Given the description of an element on the screen output the (x, y) to click on. 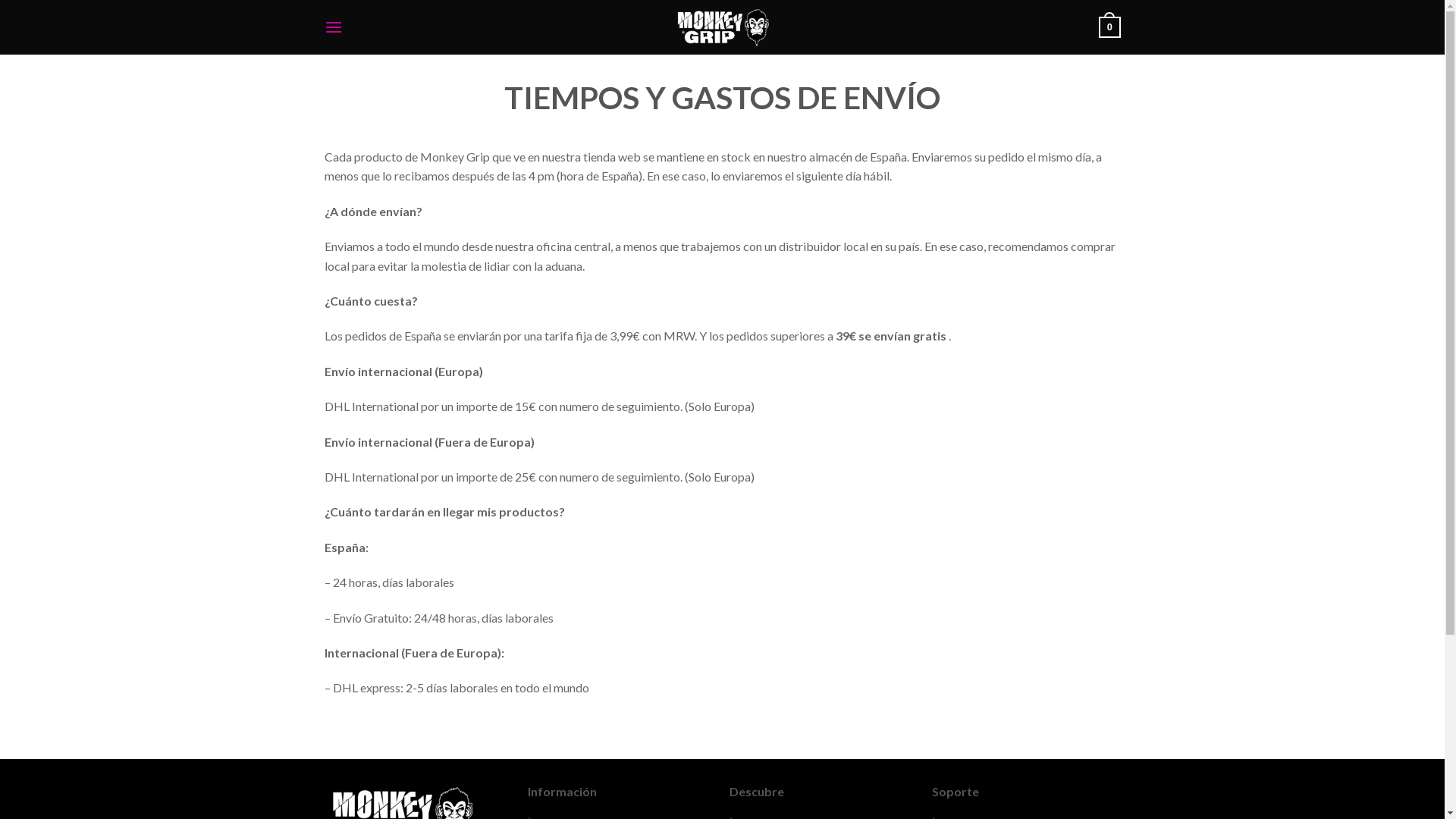
0 Element type: text (1109, 27)
Monkey Grip - I'm Killing it! Element type: hover (722, 27)
